Given the description of an element on the screen output the (x, y) to click on. 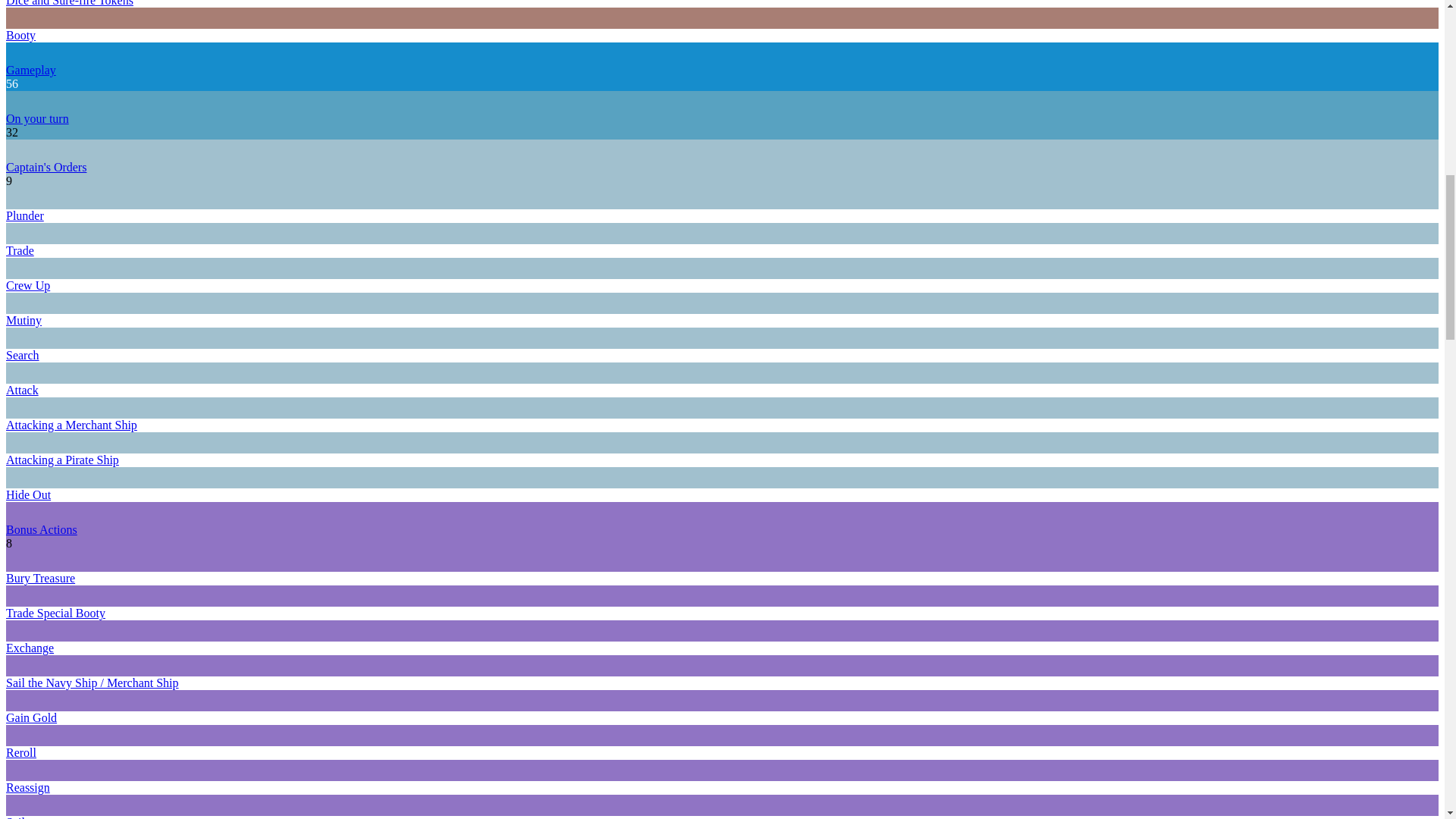
On your turn (36, 118)
Hide Out (27, 494)
Plunder (24, 215)
Mutiny (23, 319)
Attacking a Pirate Ship (62, 459)
Bury Treasure (40, 577)
Dice and Sure-fire Tokens (69, 3)
Attacking a Merchant Ship (70, 424)
Crew Up (27, 285)
Exchange (29, 647)
